Given the description of an element on the screen output the (x, y) to click on. 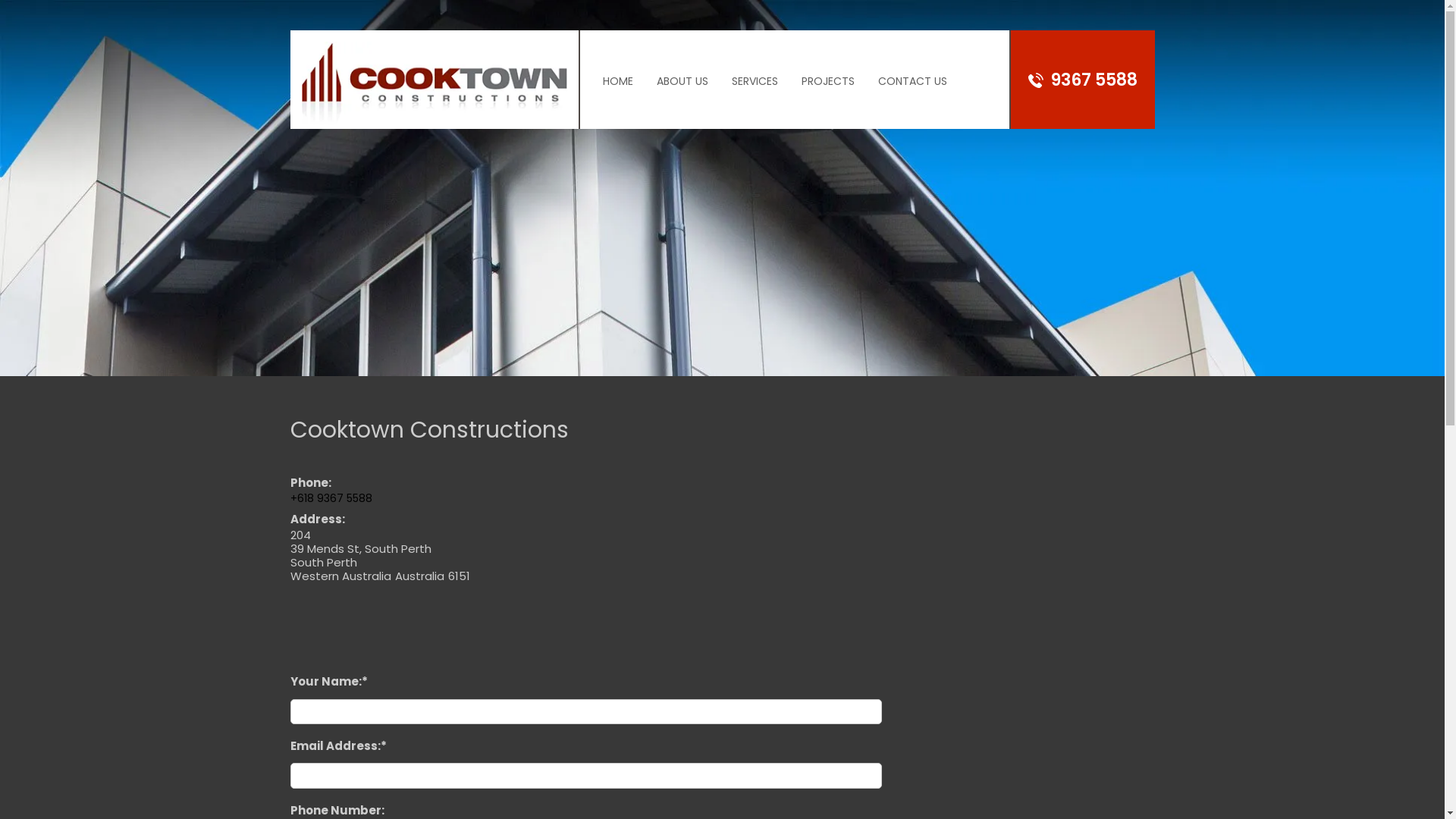
9367 5588 Element type: text (1094, 79)
CONTACT US Element type: text (911, 96)
HOME Element type: text (617, 96)
+618 9367 5588 Element type: text (330, 497)
SERVICES Element type: text (754, 96)
PROJECTS Element type: text (828, 96)
ABOUT US Element type: text (681, 96)
